Given the description of an element on the screen output the (x, y) to click on. 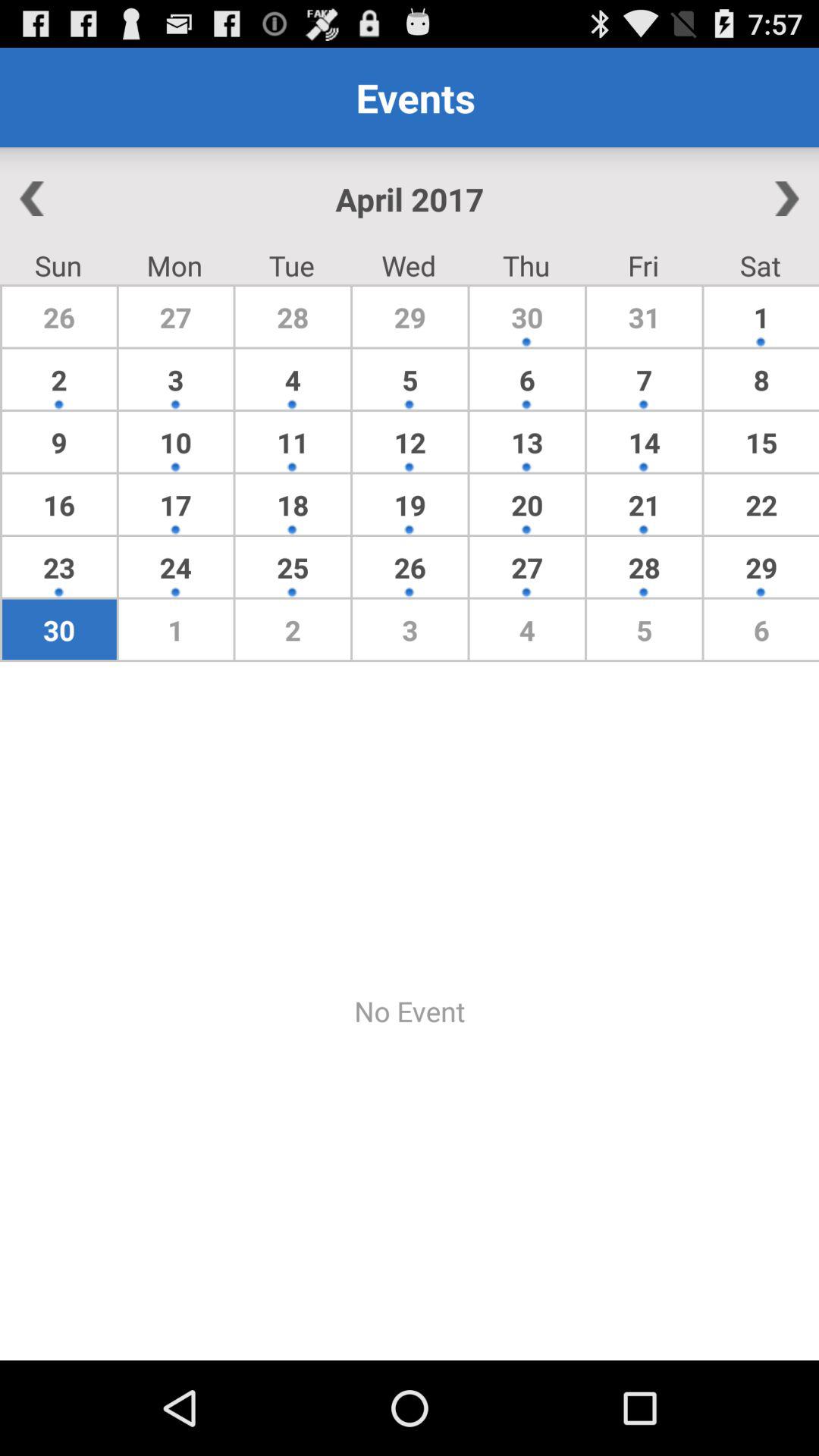
click the item to the left of april 2017 button (83, 198)
